Given the description of an element on the screen output the (x, y) to click on. 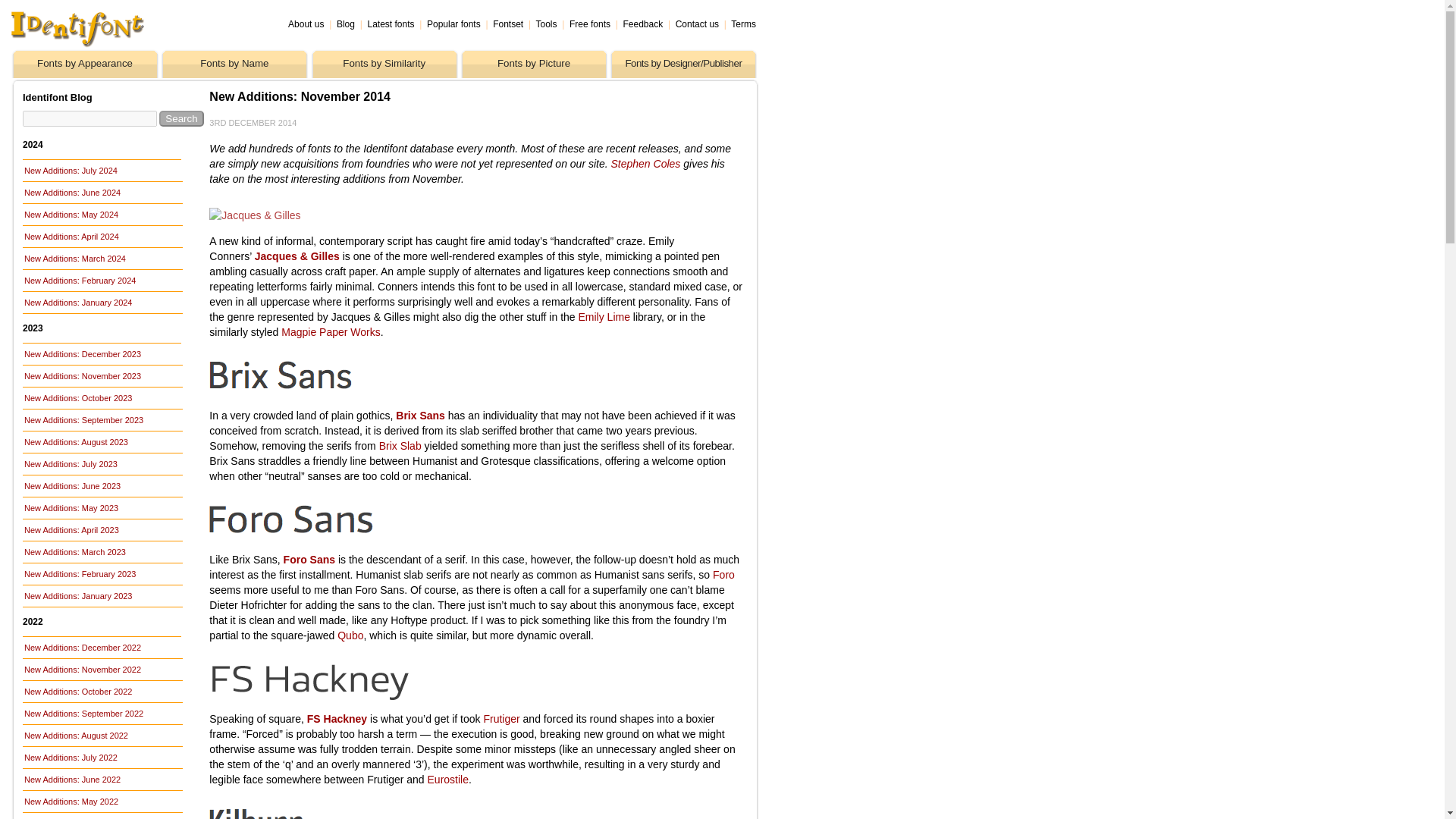
Fonts by Appearance (84, 58)
New Additions: June 2024 (103, 192)
New Additions: May 2024 (103, 214)
New Additions: December 2023 (103, 353)
Latest fonts (389, 23)
New Additions: October 2023 (103, 397)
Feedback (643, 23)
New Additions: August 2023 (103, 441)
New Additions: April 2024 (103, 236)
Free fonts (589, 23)
